Given the description of an element on the screen output the (x, y) to click on. 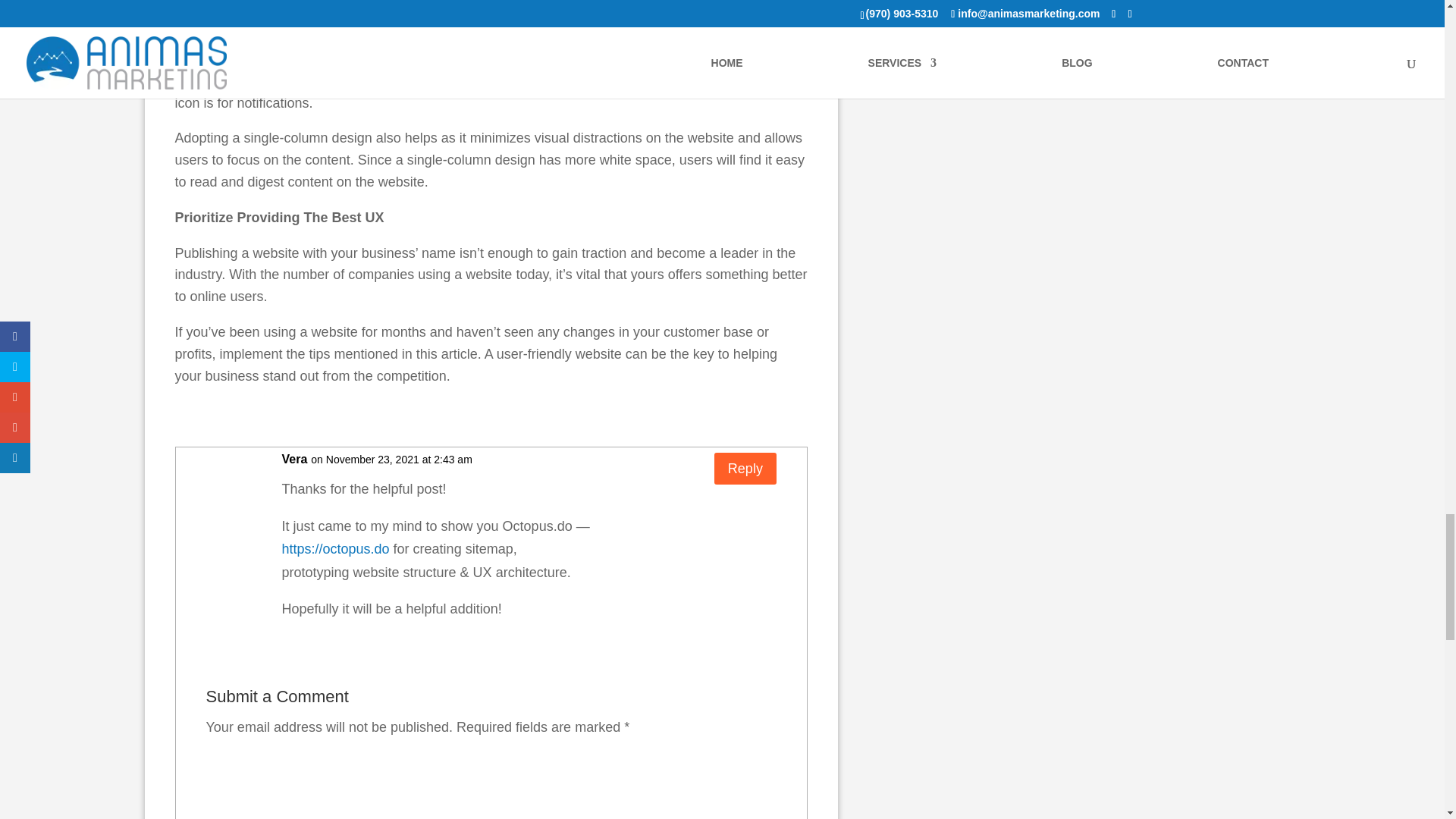
Reply (745, 468)
